Given the description of an element on the screen output the (x, y) to click on. 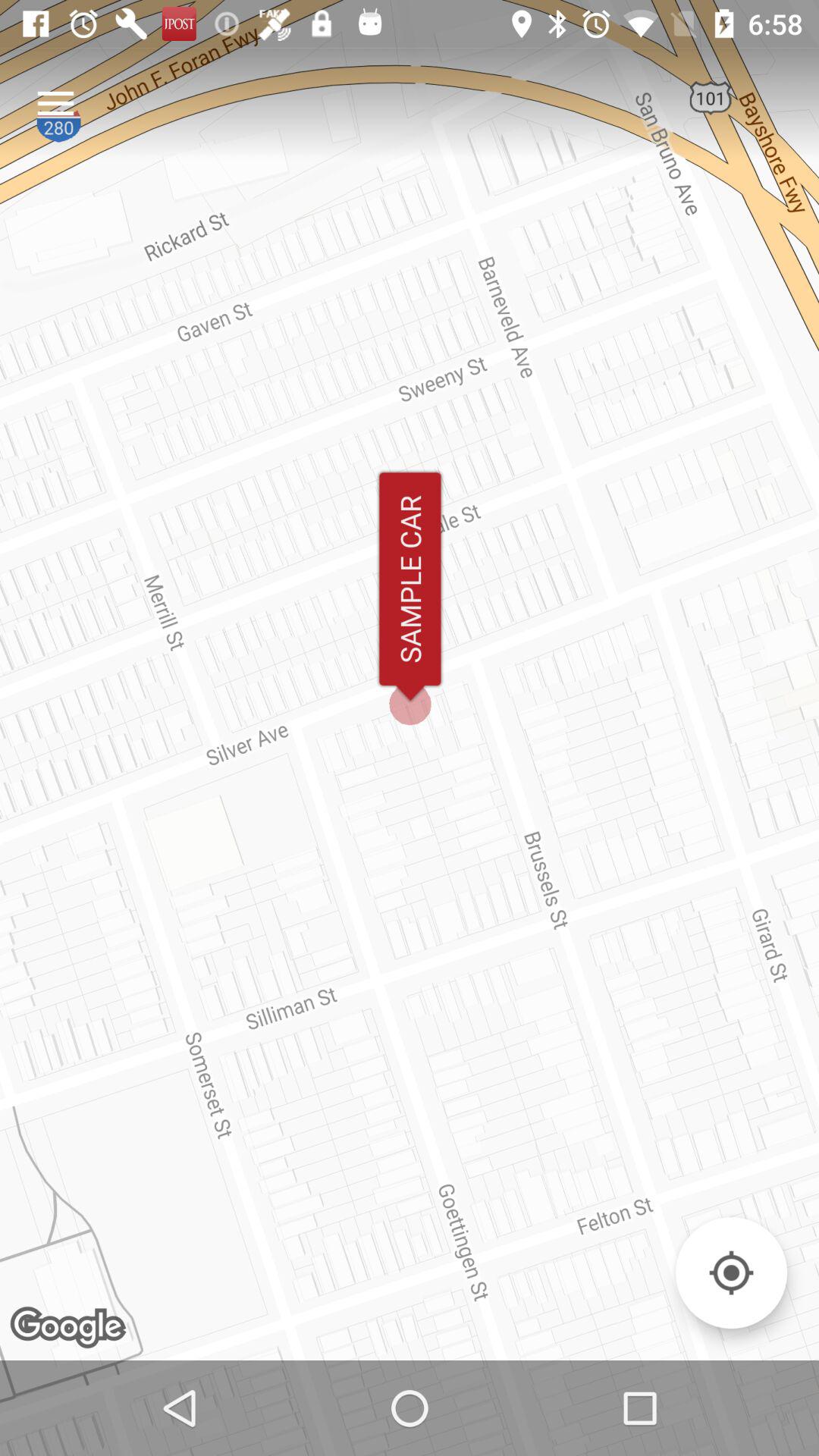
select the map image (731, 1272)
